Given the description of an element on the screen output the (x, y) to click on. 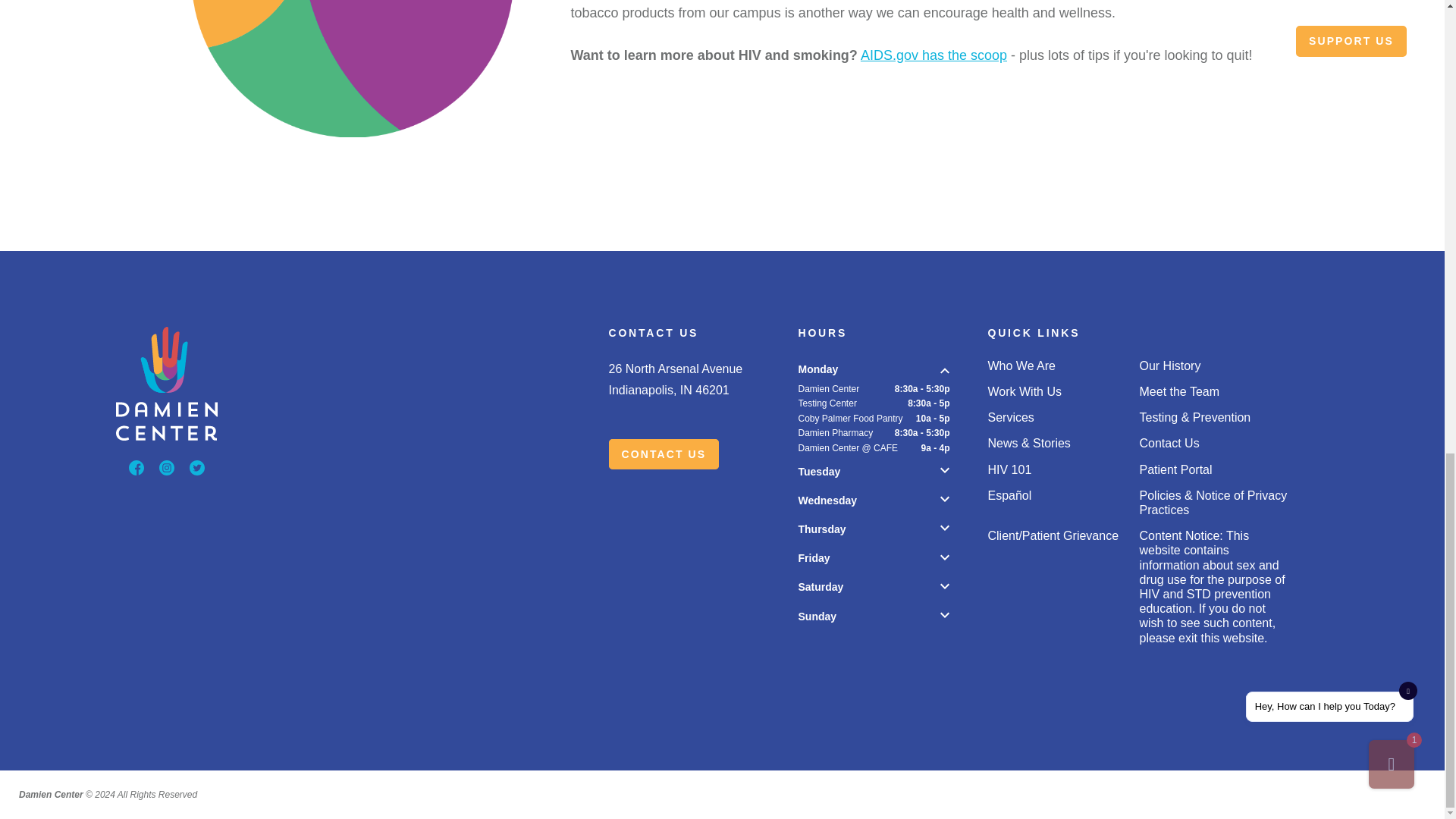
Instagram Logo (166, 467)
Facebook Logo (136, 467)
LinkedIn Logo (197, 467)
